Given the description of an element on the screen output the (x, y) to click on. 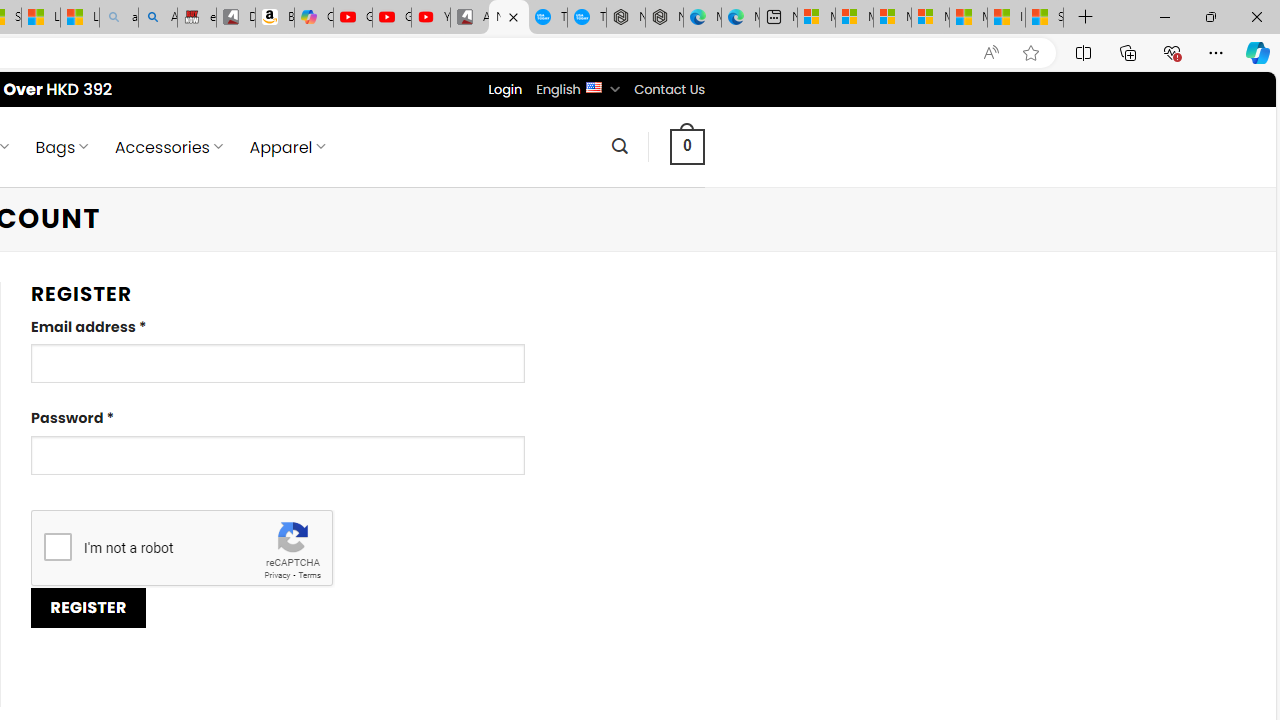
Login (505, 89)
Login (505, 89)
Gloom - YouTube (391, 17)
Privacy (276, 575)
Microsoft account | Microsoft Account Privacy Settings (853, 17)
